Given the description of an element on the screen output the (x, y) to click on. 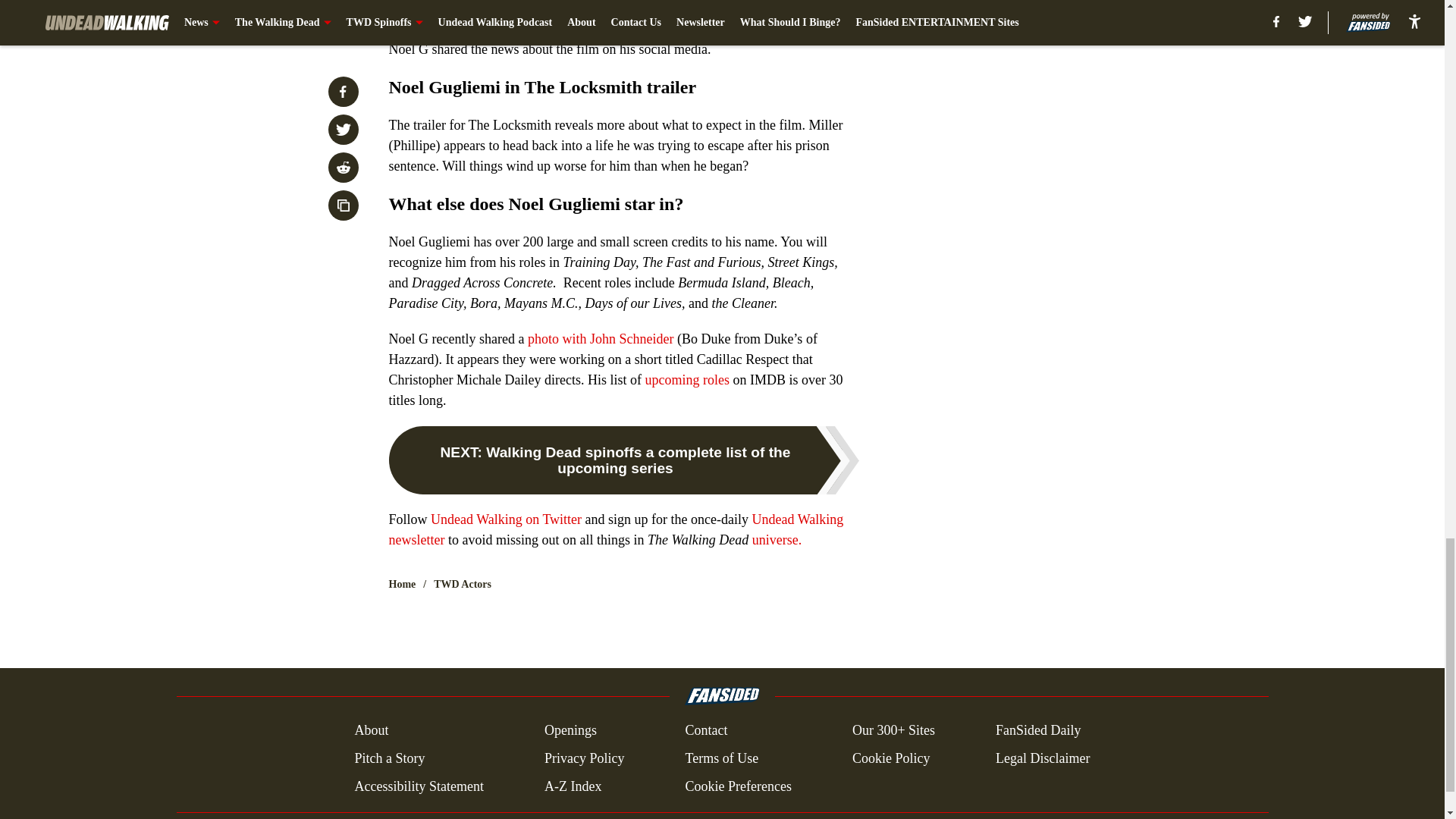
universe. (777, 539)
Home (401, 584)
photo with John Schneider (599, 338)
upcoming roles (687, 379)
Undead Walking newsletter (615, 529)
TWD Actors (462, 584)
Undead Walking on Twitter (505, 519)
